Given the description of an element on the screen output the (x, y) to click on. 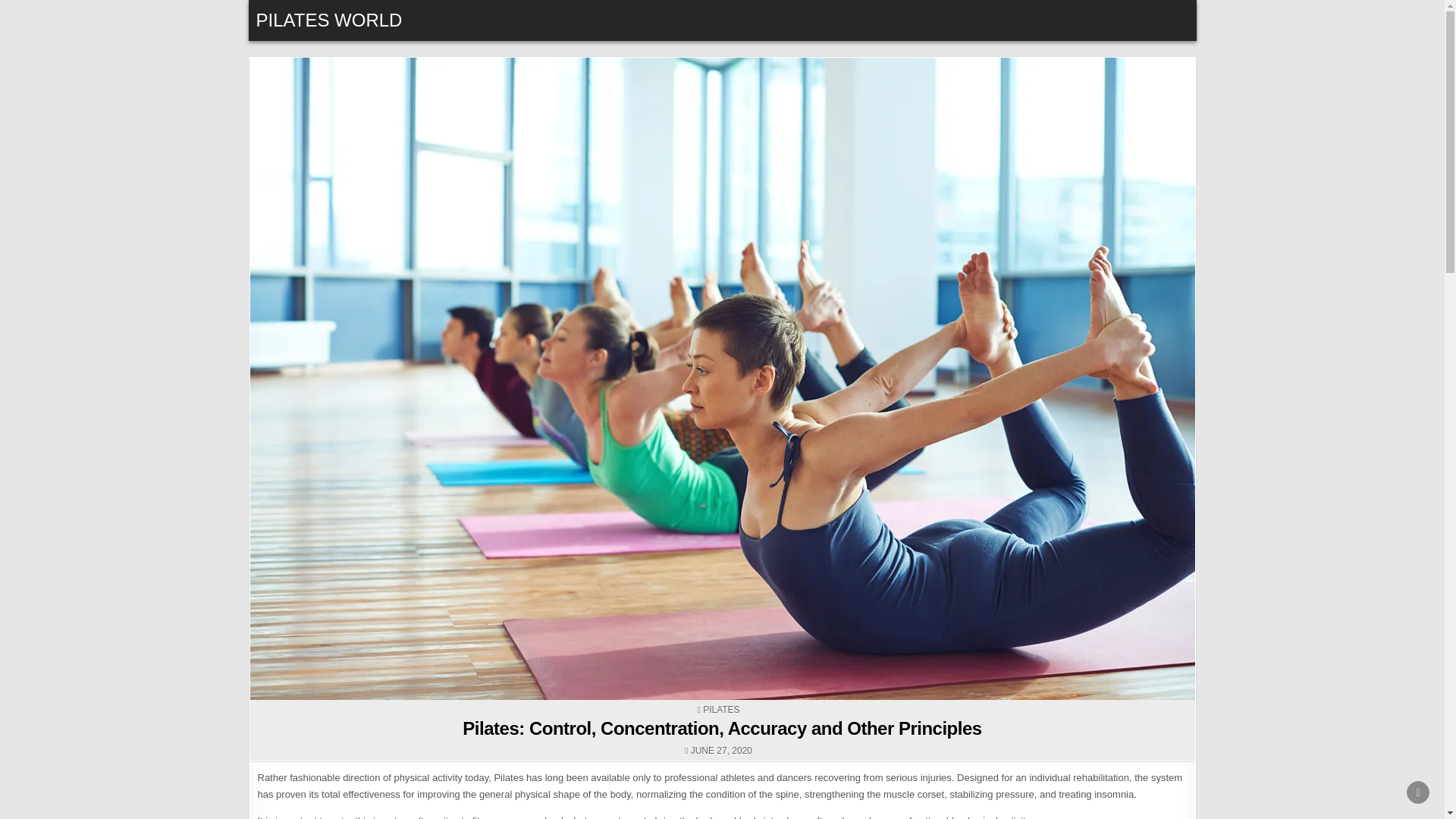
PILATES WORLD (329, 19)
PILATES (721, 709)
SCROLL TO TOP (1417, 792)
SCROLL TO TOP (1417, 792)
